Given the description of an element on the screen output the (x, y) to click on. 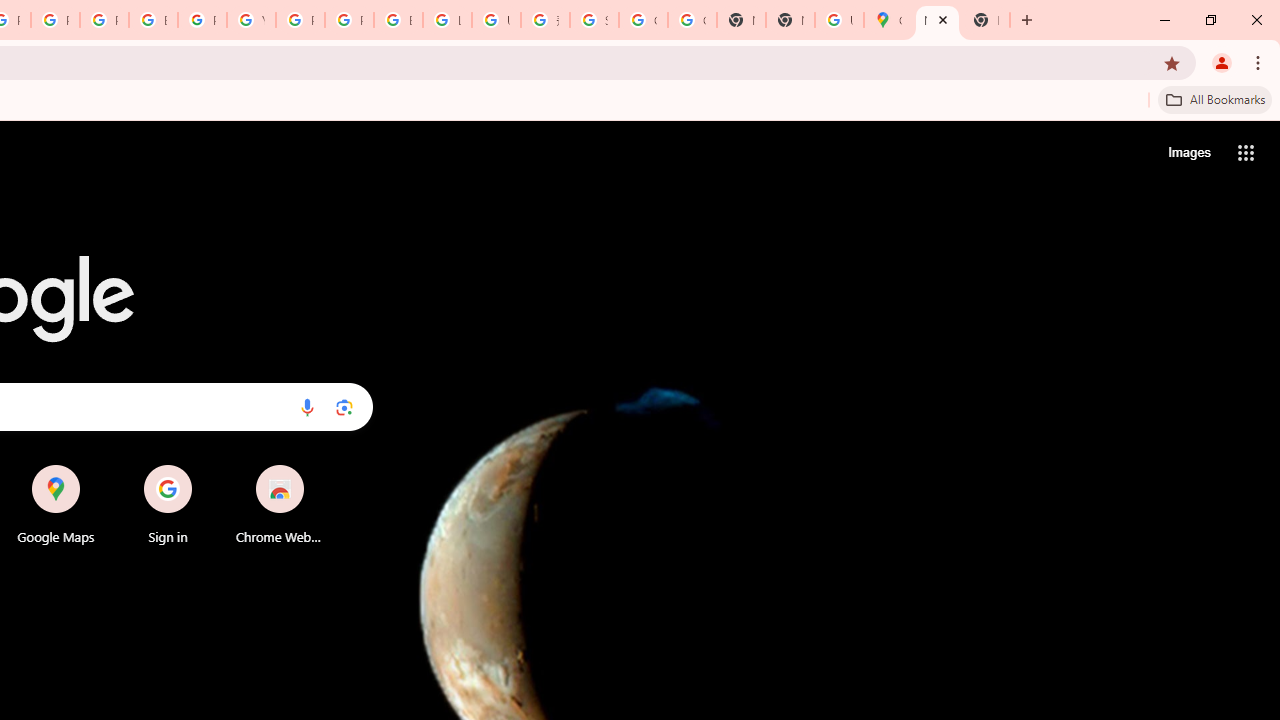
YouTube (251, 20)
Remove (319, 466)
Use Google Maps in Space - Google Maps Help (839, 20)
Chrome Web Store (279, 504)
Sign in - Google Accounts (594, 20)
New Tab (985, 20)
